Given the description of an element on the screen output the (x, y) to click on. 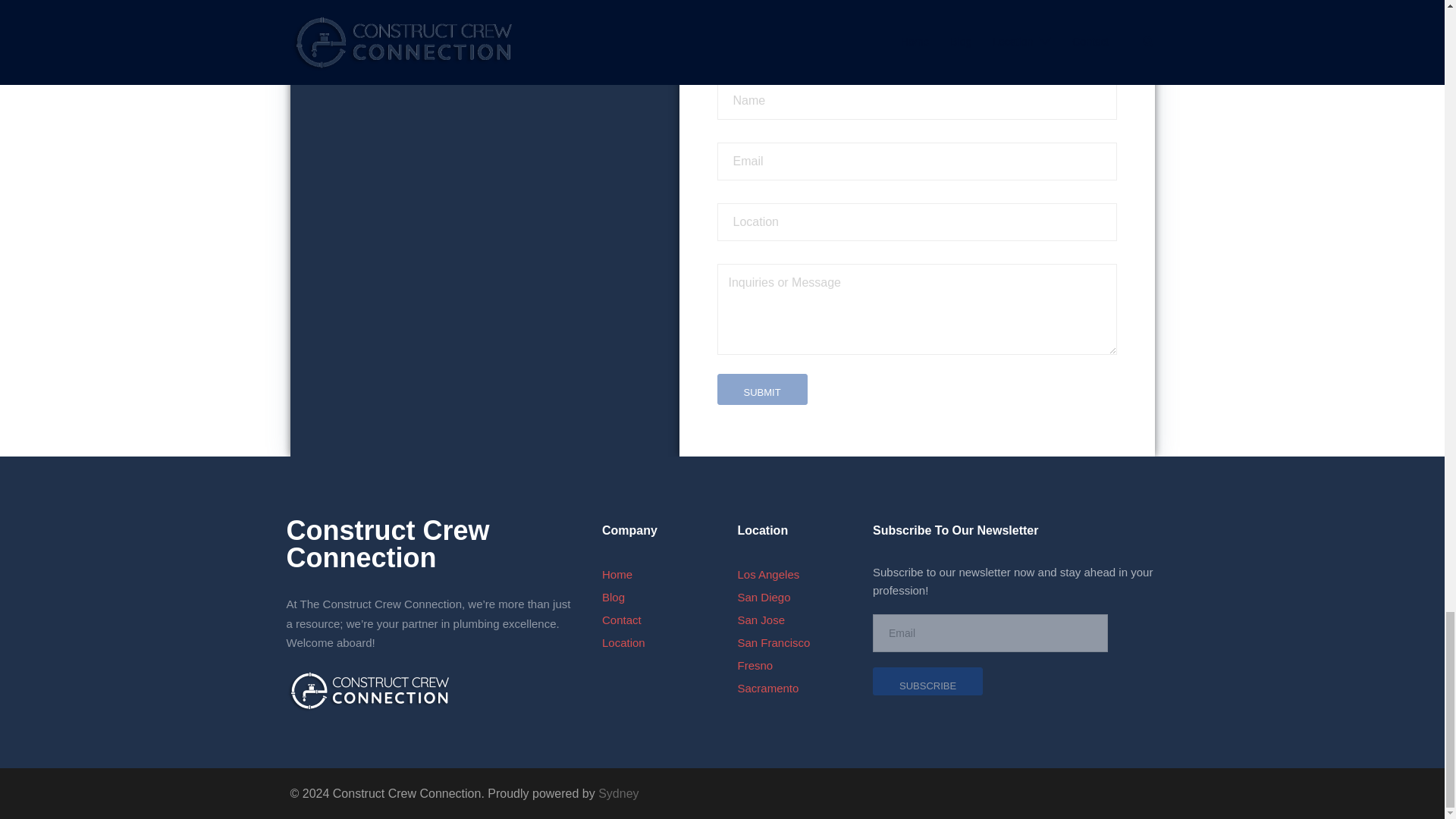
San Francisco (772, 642)
SUBMIT (762, 388)
Home (616, 574)
Blog (613, 596)
San Jose (760, 619)
Contact (622, 619)
Los Angeles (767, 574)
Location (623, 642)
San Diego (763, 596)
